Given the description of an element on the screen output the (x, y) to click on. 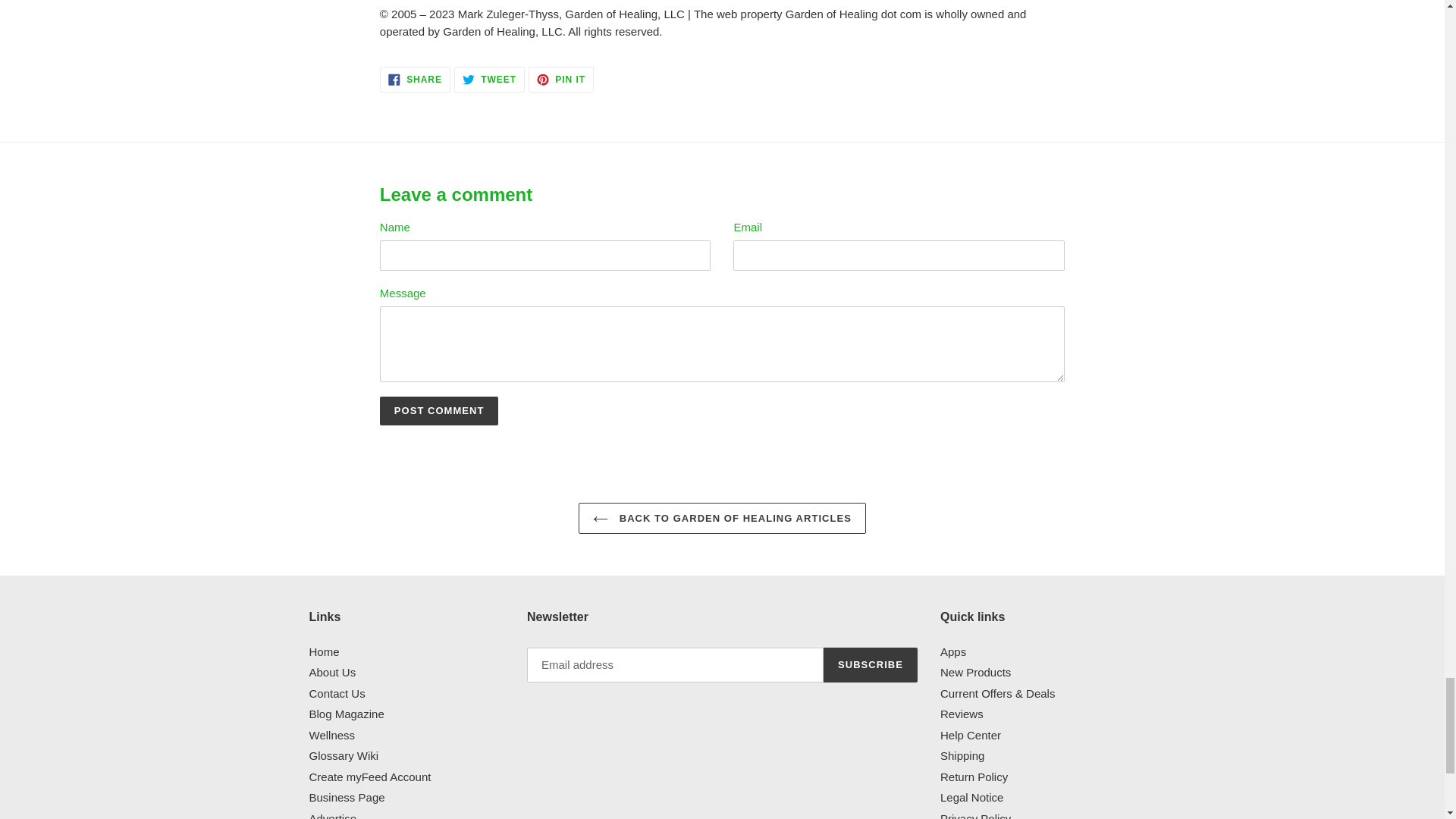
Post comment (439, 410)
